Given the description of an element on the screen output the (x, y) to click on. 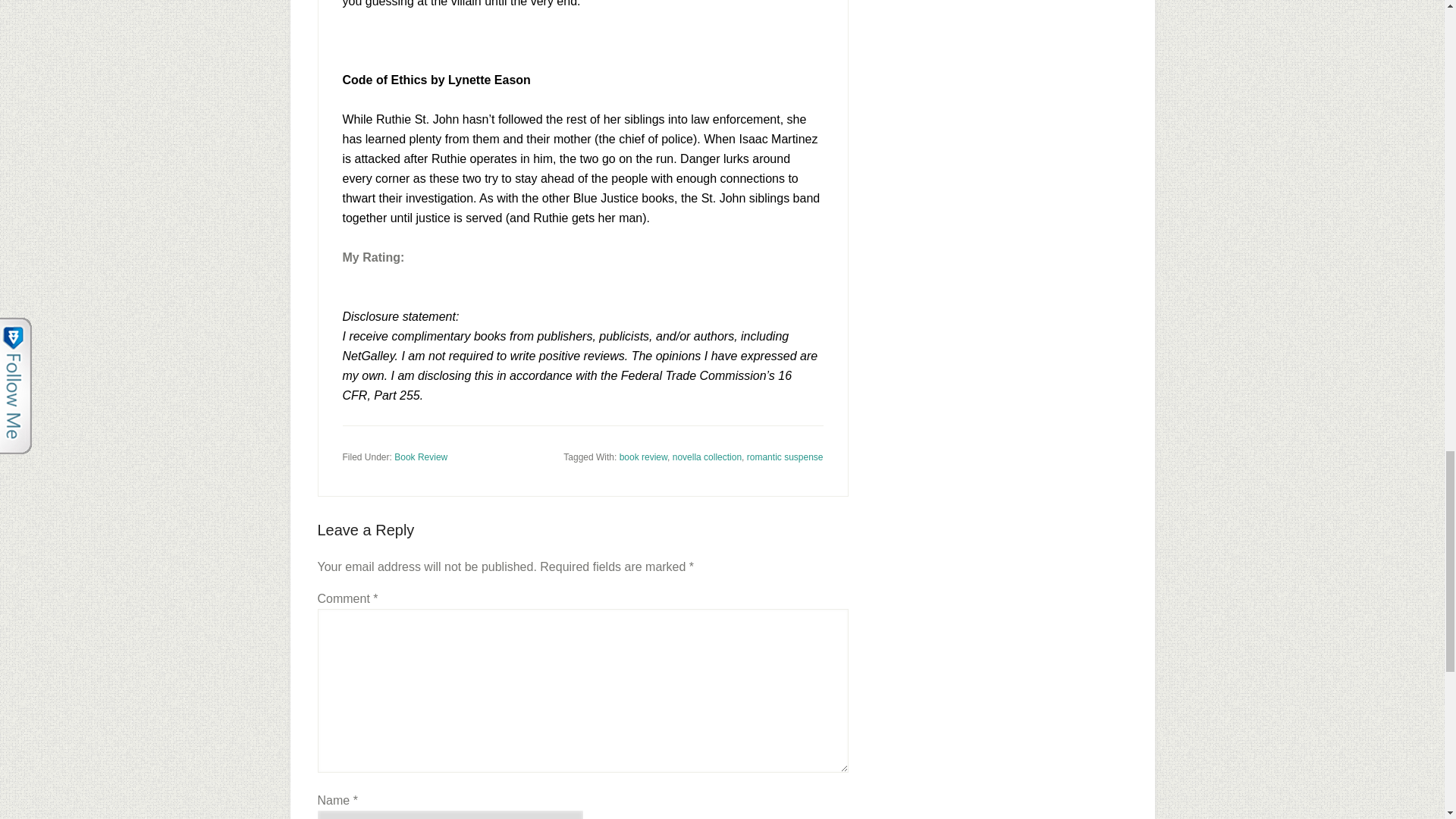
book review (643, 457)
Book Review (420, 457)
novella collection (706, 457)
romantic suspense (785, 457)
